Given the description of an element on the screen output the (x, y) to click on. 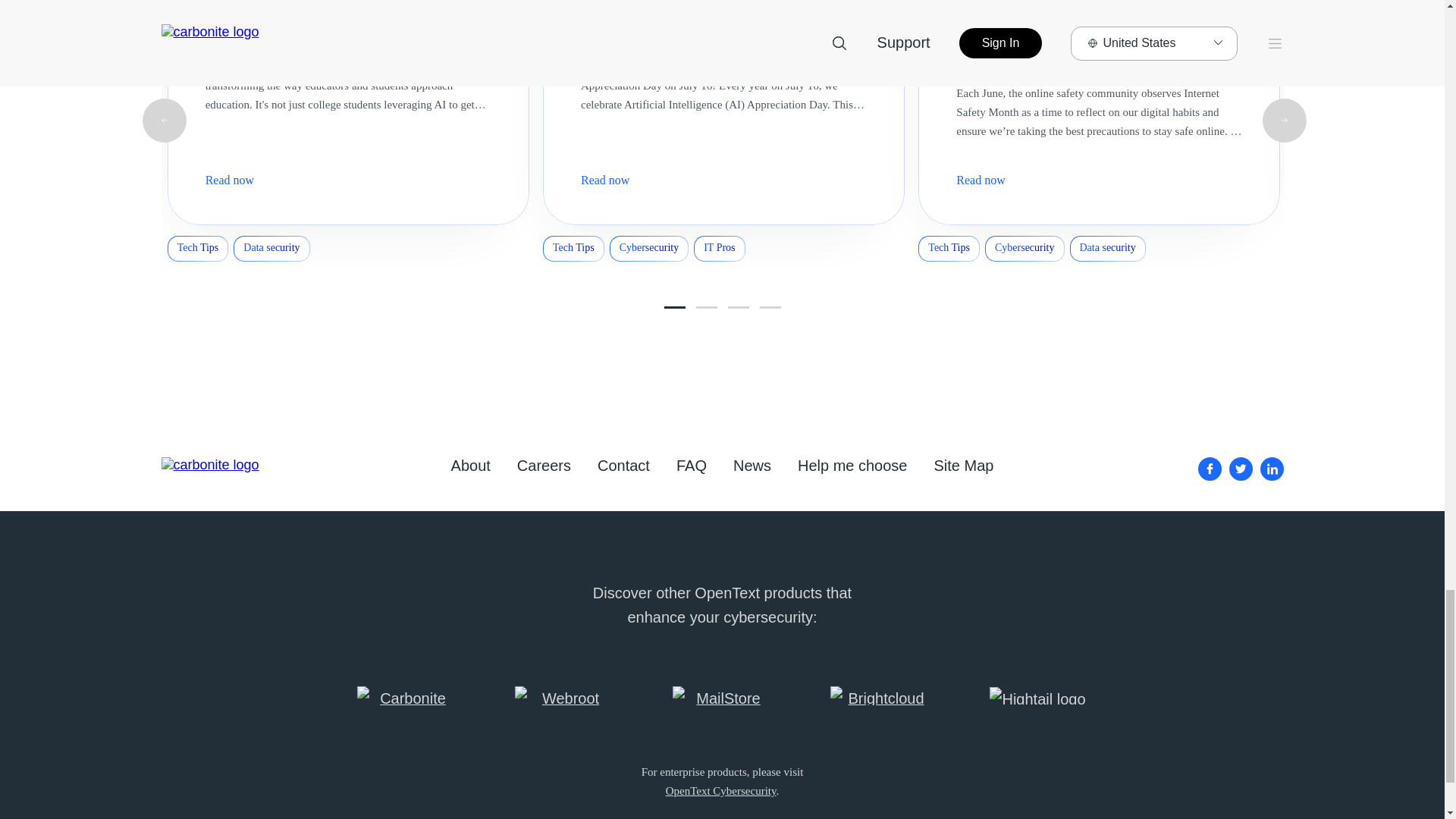
Facebook (1209, 468)
Linkedin (1272, 468)
OpenText (720, 790)
Twitter (1240, 468)
